Given the description of an element on the screen output the (x, y) to click on. 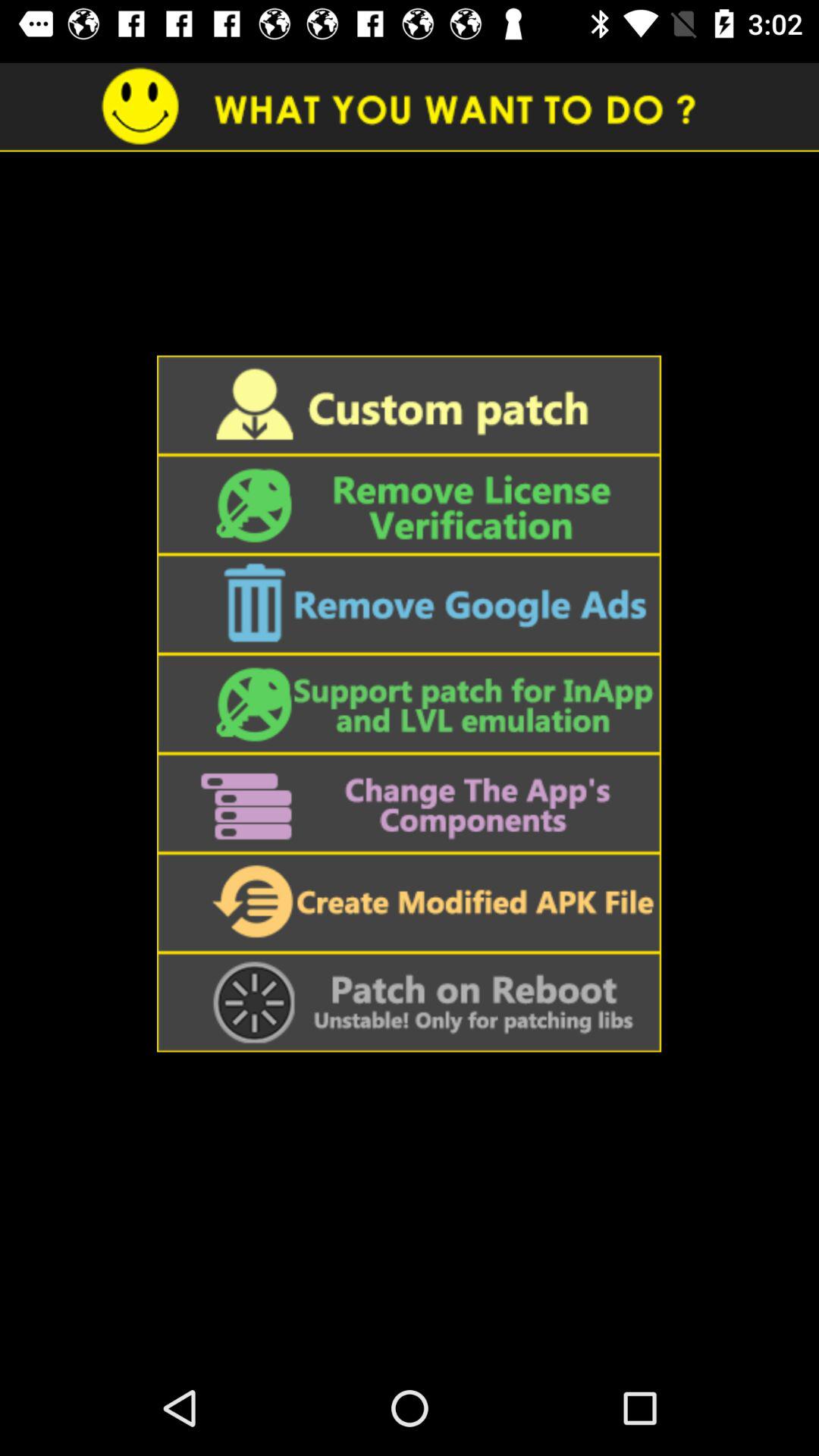
change app 's features (408, 803)
